Given the description of an element on the screen output the (x, y) to click on. 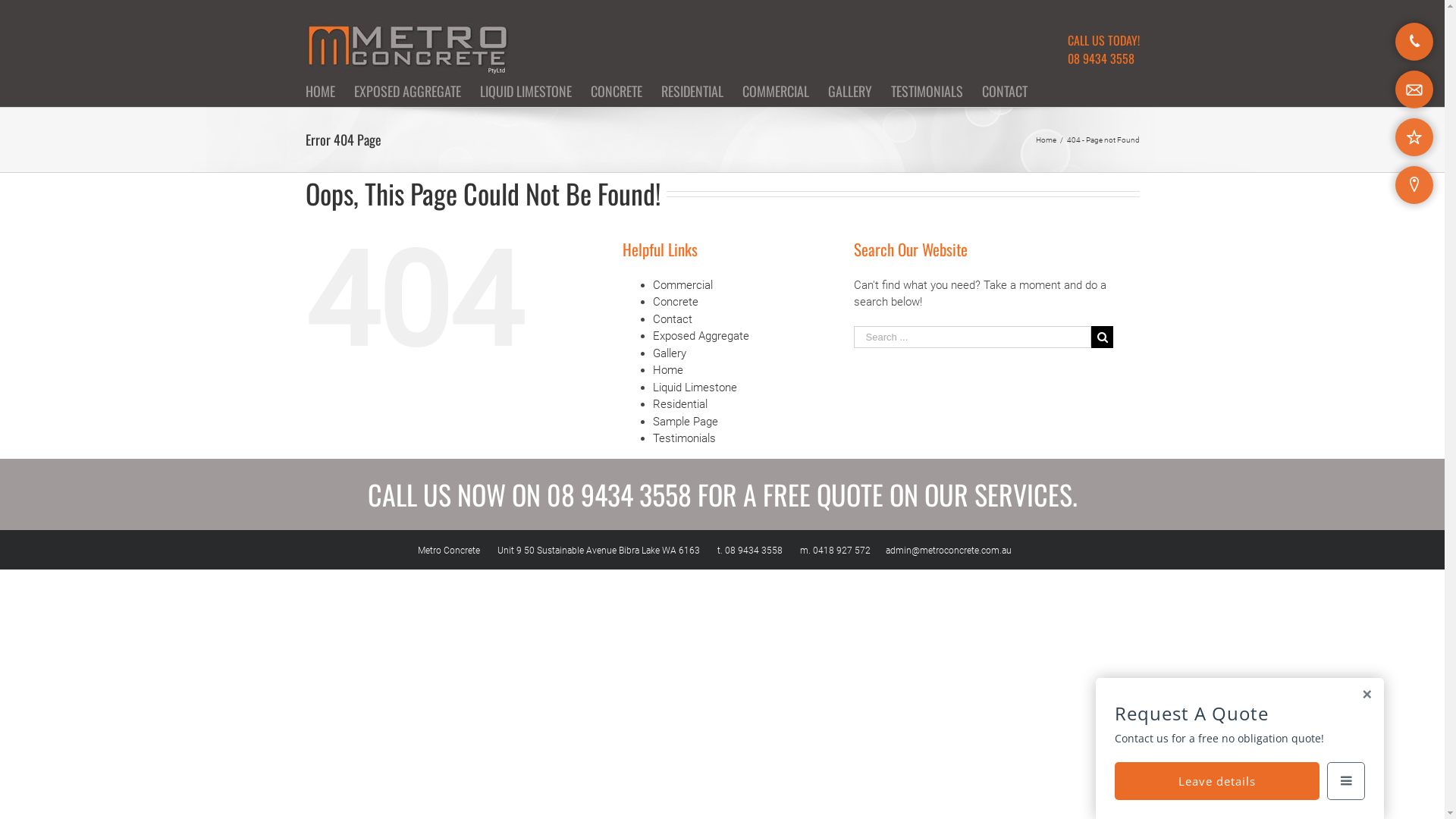
Leave details Element type: text (1216, 781)
CONTACT Element type: text (1003, 90)
Home Element type: text (667, 369)
Residential Element type: text (679, 404)
LIQUID LIMESTONE Element type: text (525, 90)
Contact Element type: text (672, 319)
RESIDENTIAL Element type: text (692, 90)
08 9434 3558 Element type: text (1100, 57)
Liquid Limestone Element type: text (694, 387)
Exposed Aggregate Element type: text (700, 335)
Gallery Element type: text (669, 352)
EXPOSED AGGREGATE Element type: text (406, 90)
Commercial Element type: text (682, 284)
CONCRETE Element type: text (615, 90)
GALLERY Element type: text (850, 90)
08 9434 3558 Element type: text (618, 493)
Testimonials Element type: text (683, 438)
TESTIMONIALS Element type: text (926, 90)
HOME Element type: text (319, 90)
Concrete Element type: text (675, 301)
Home Element type: text (1045, 139)
COMMERCIAL Element type: text (774, 90)
Sample Page Element type: text (685, 420)
